Given the description of an element on the screen output the (x, y) to click on. 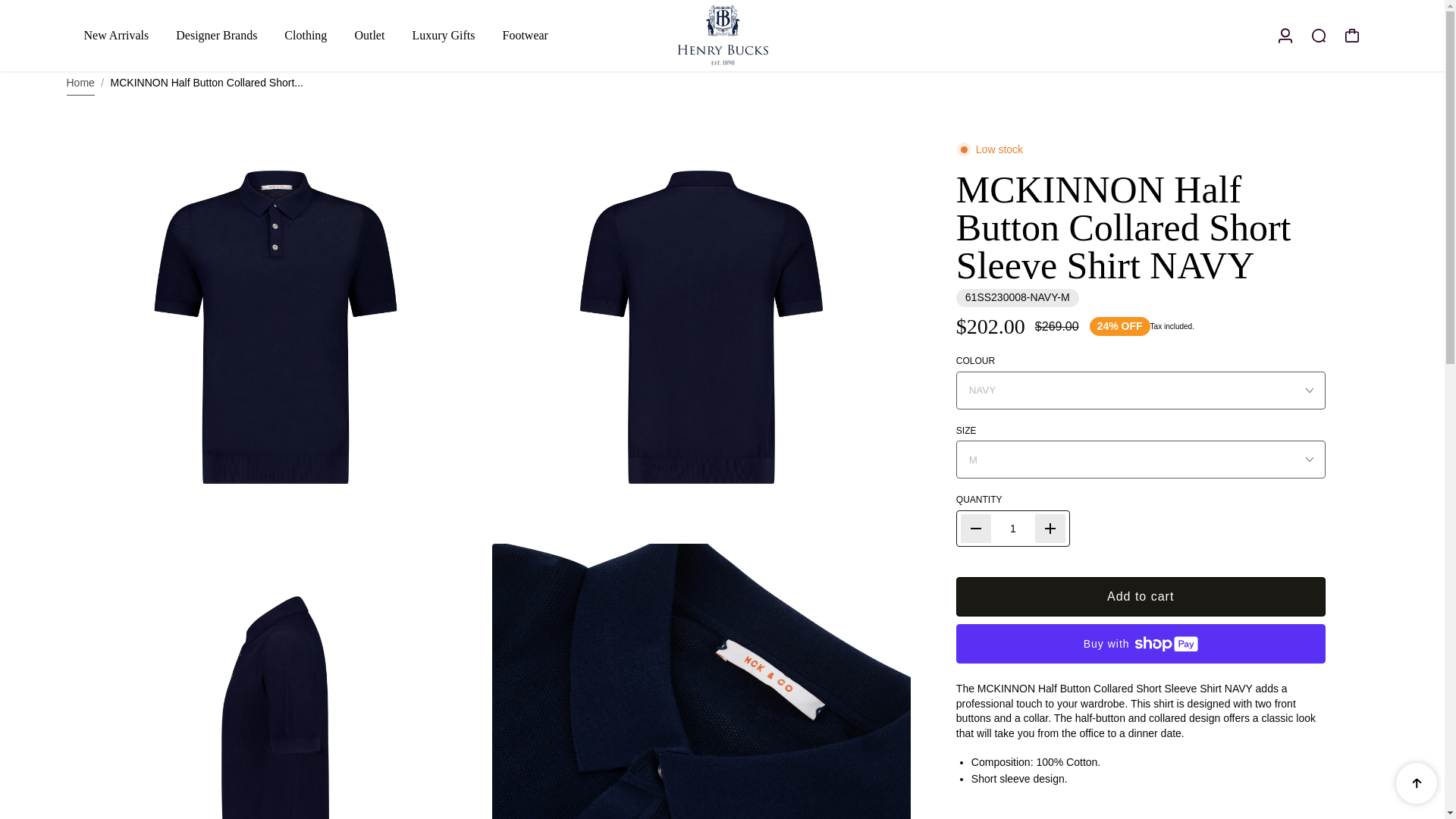
Add to cart (1140, 596)
Footwear (524, 35)
Home (80, 83)
Log in (1284, 35)
Clothing (305, 35)
Search (1318, 35)
Designer Brands (216, 35)
New Arrivals (115, 35)
Home (80, 83)
1 (1013, 528)
Outlet (368, 35)
Luxury Gifts (443, 35)
